Given the description of an element on the screen output the (x, y) to click on. 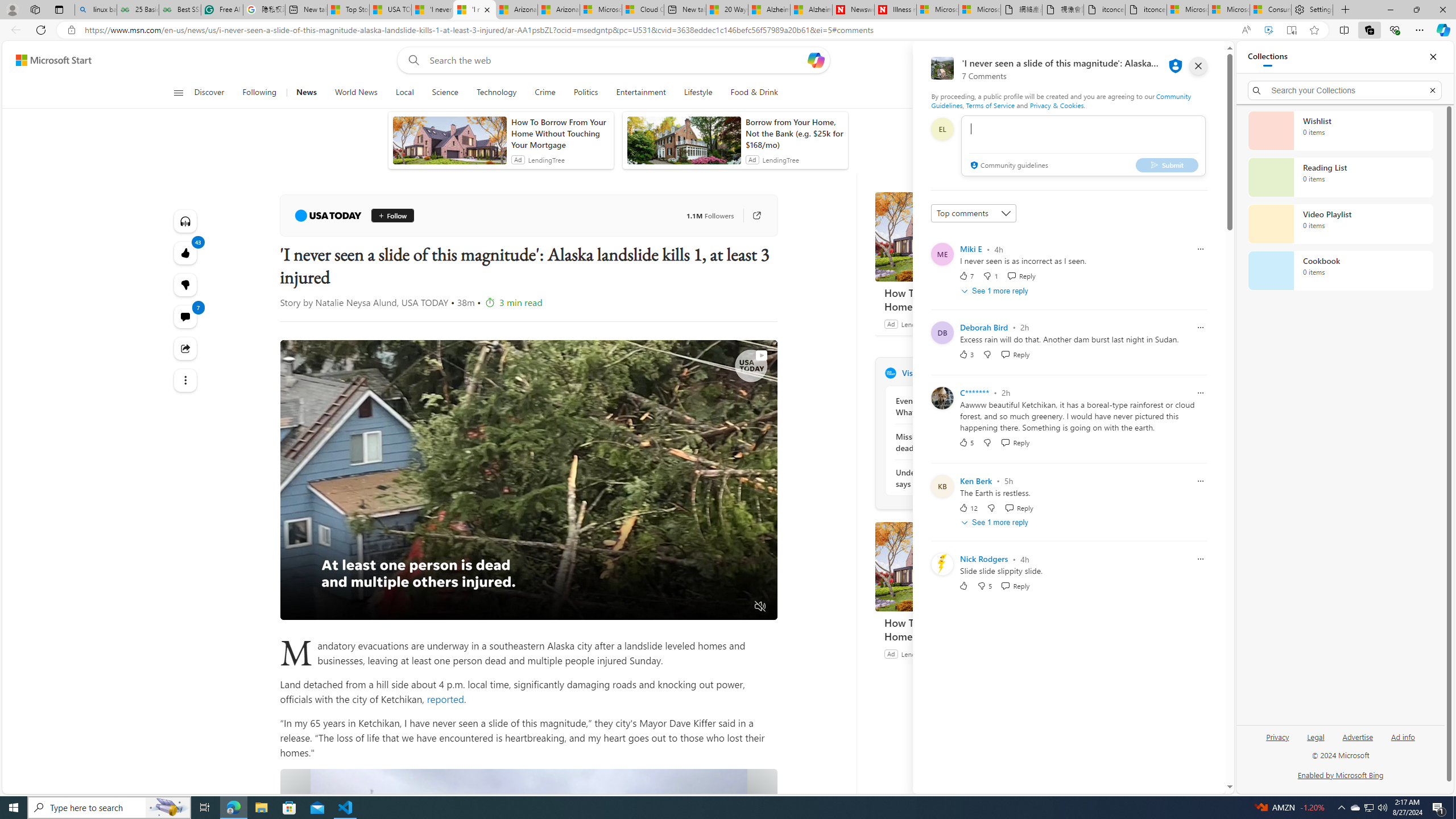
Cookbook collection, 0 items (1339, 270)
Follow (392, 215)
Seek Forward (341, 606)
Report comment (1200, 558)
Best SSL Certificates Provider in India - GeeksforGeeks (179, 9)
43 (184, 284)
Sort comments by (973, 212)
